Given the description of an element on the screen output the (x, y) to click on. 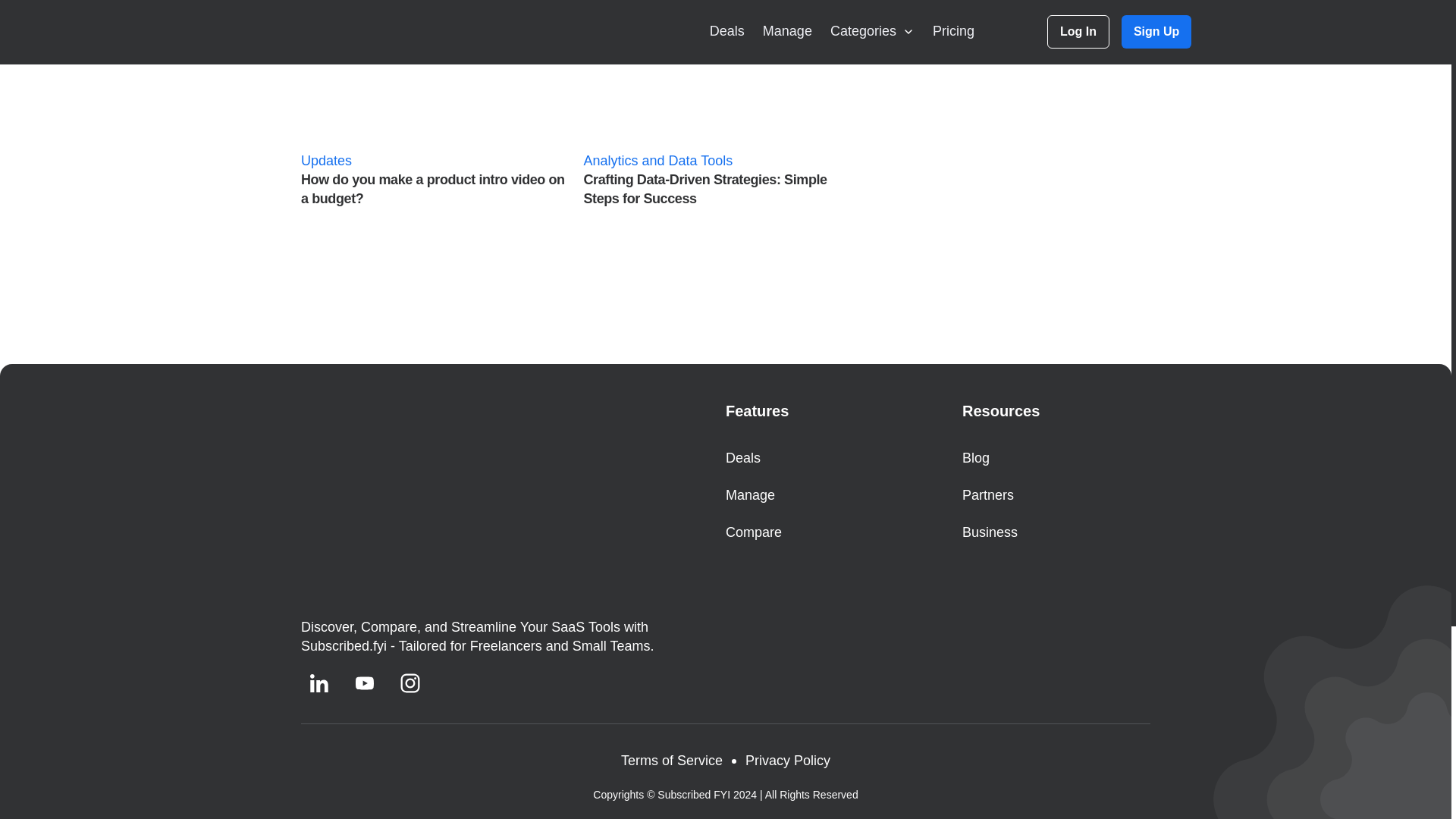
How do you make a product intro video on a budget? (436, 109)
Crafting Data-Driven Strategies: Simple Steps for Success (718, 109)
